Given the description of an element on the screen output the (x, y) to click on. 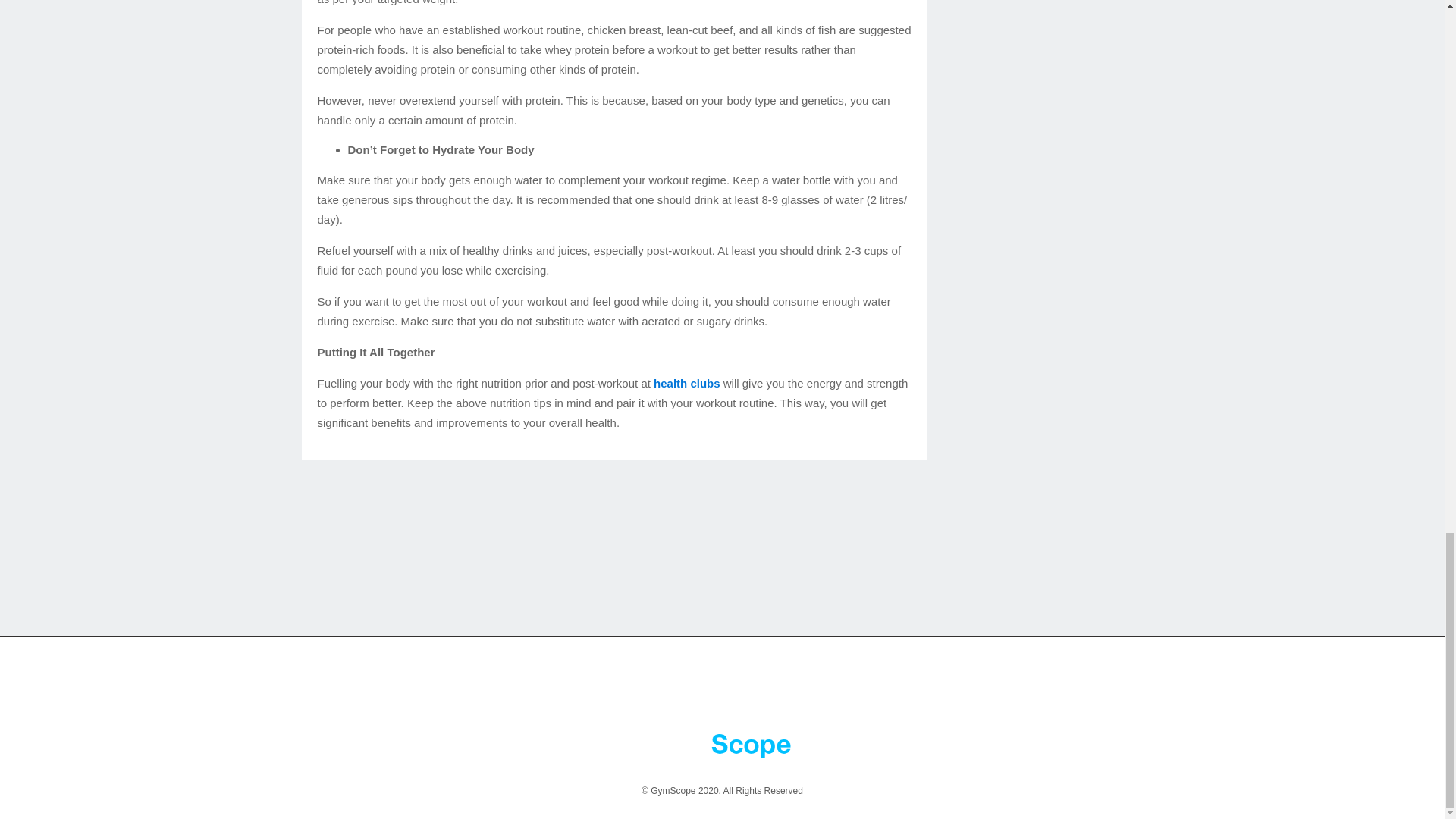
health clubs (686, 382)
About Us (496, 688)
List Your Gym (639, 688)
Gym Login (888, 688)
Gyms by Location (973, 688)
Find a Gym (561, 688)
Contact Us (715, 688)
Home (443, 688)
